Given the description of an element on the screen output the (x, y) to click on. 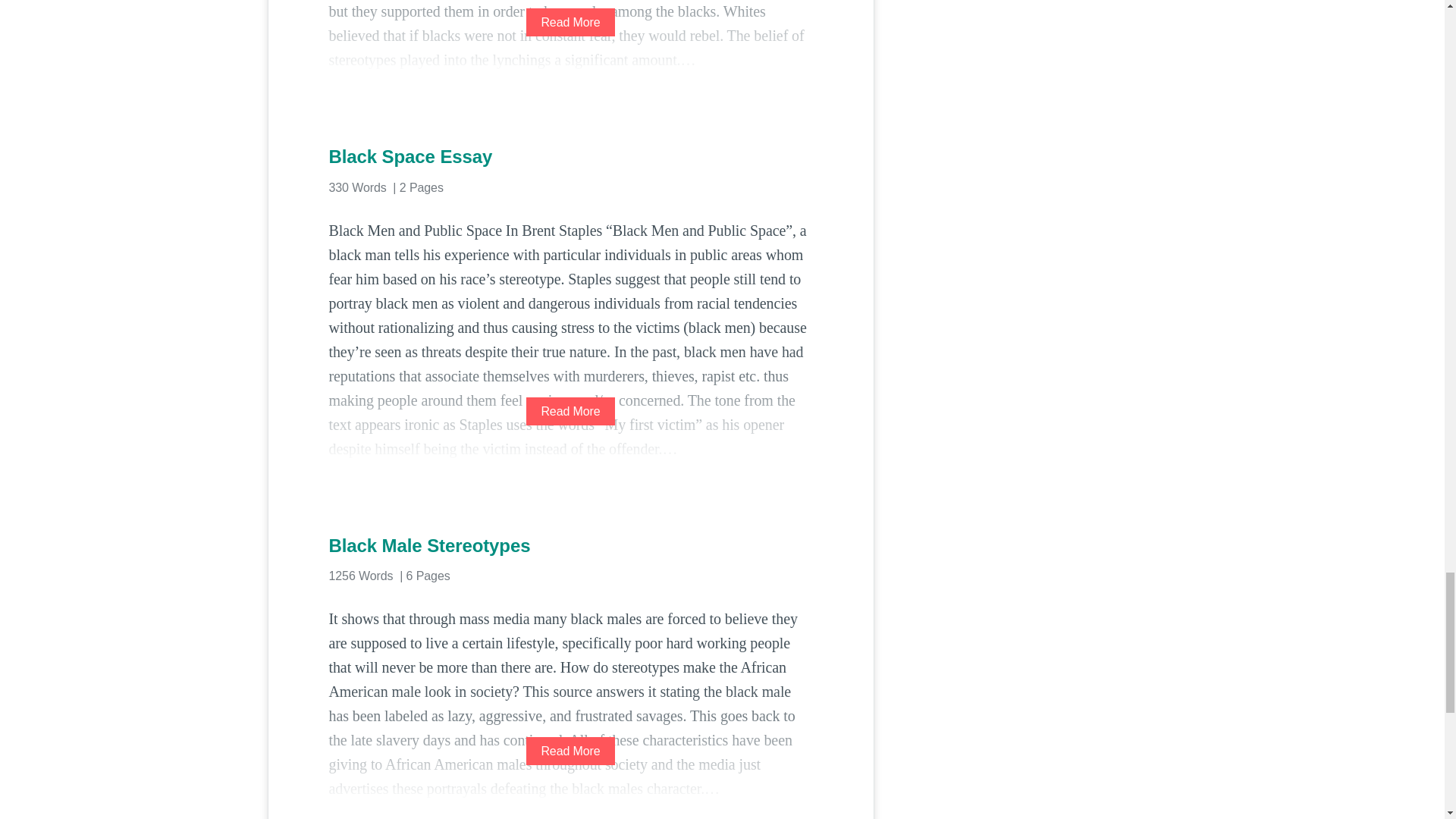
Read More (569, 750)
Black Male Stereotypes (570, 545)
Read More (569, 22)
Read More (569, 411)
Black Space Essay (570, 156)
